Given the description of an element on the screen output the (x, y) to click on. 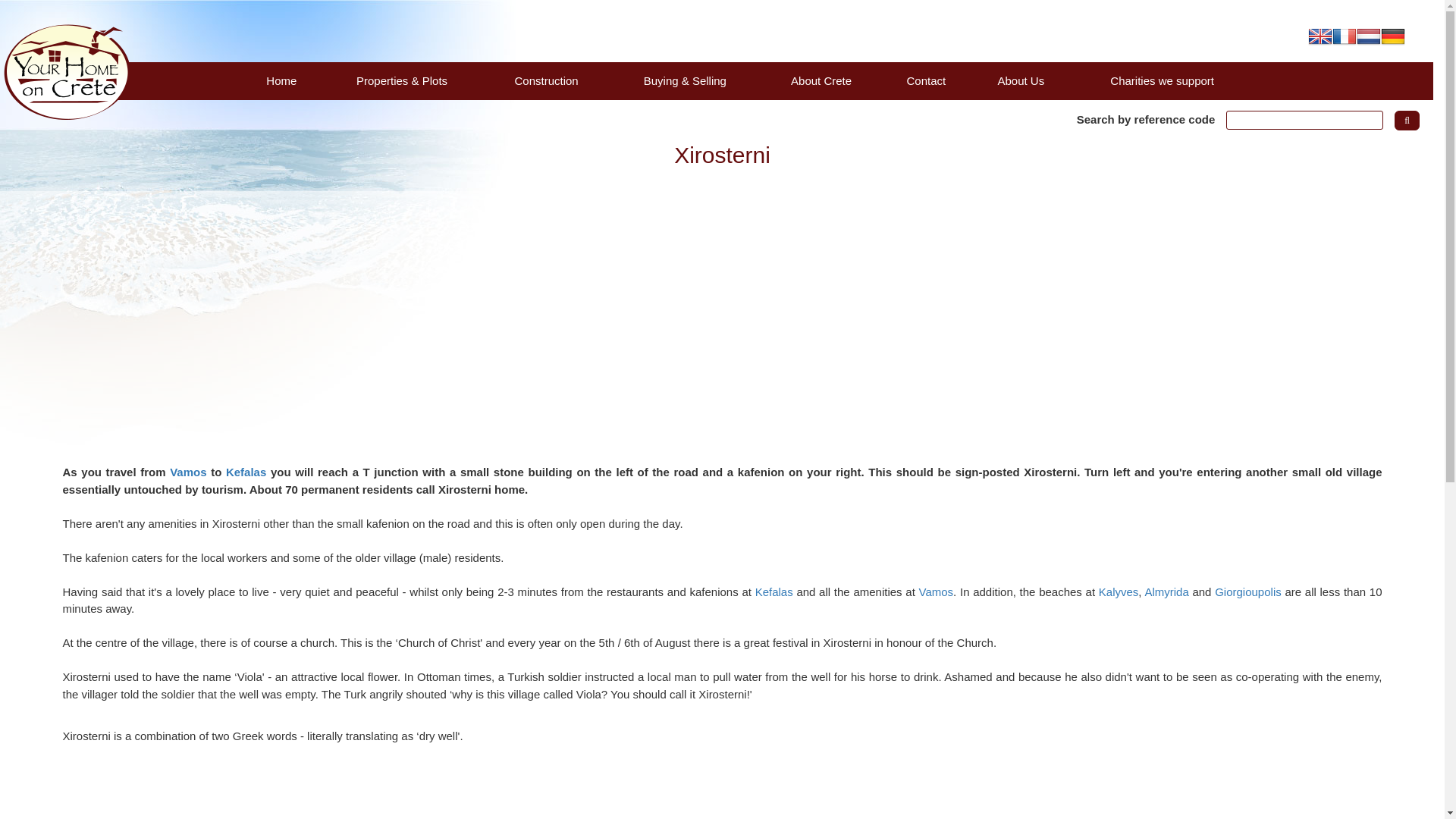
About Crete (821, 80)
Contact (925, 80)
Home (281, 80)
Charities we support (1161, 80)
Nederlands (1368, 34)
Deutsch (1392, 34)
English (1319, 34)
Construction (545, 80)
About Us (1020, 80)
